Given the description of an element on the screen output the (x, y) to click on. 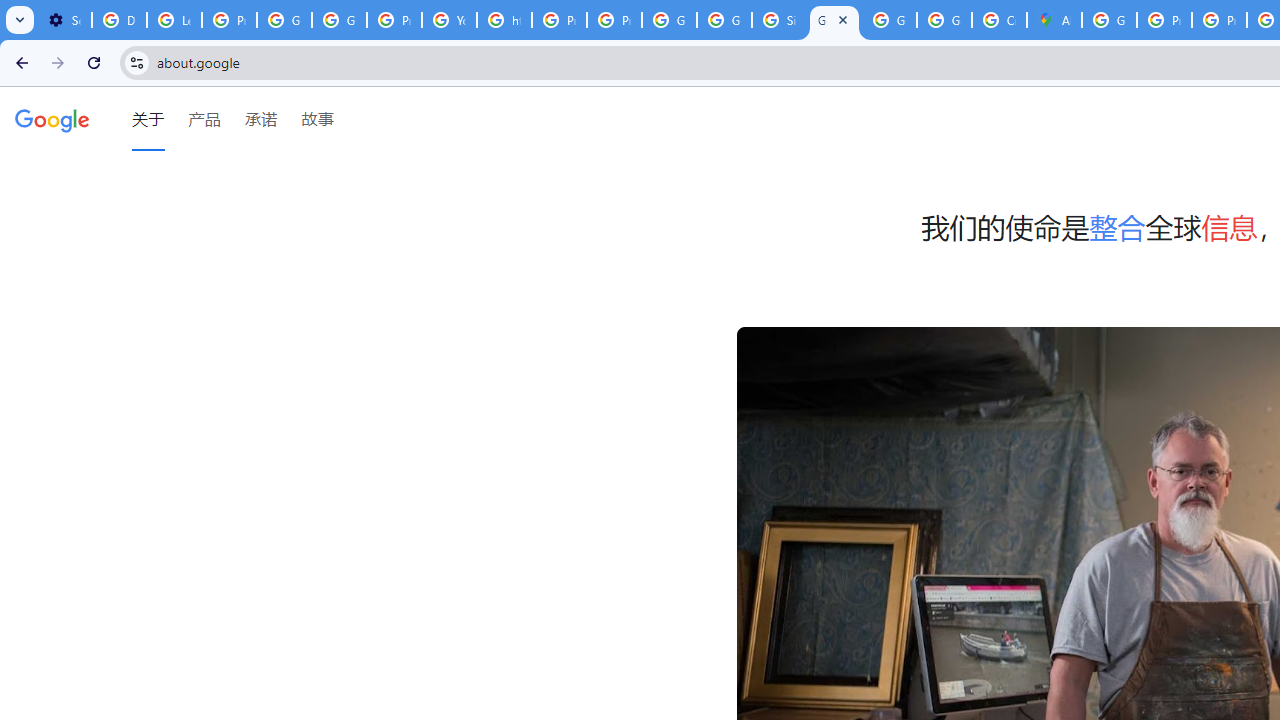
YouTube (449, 20)
Delete photos & videos - Computer - Google Photos Help (119, 20)
Sign in - Google Accounts (779, 20)
Create your Google Account (998, 20)
Privacy Help Center - Policies Help (1163, 20)
